Given the description of an element on the screen output the (x, y) to click on. 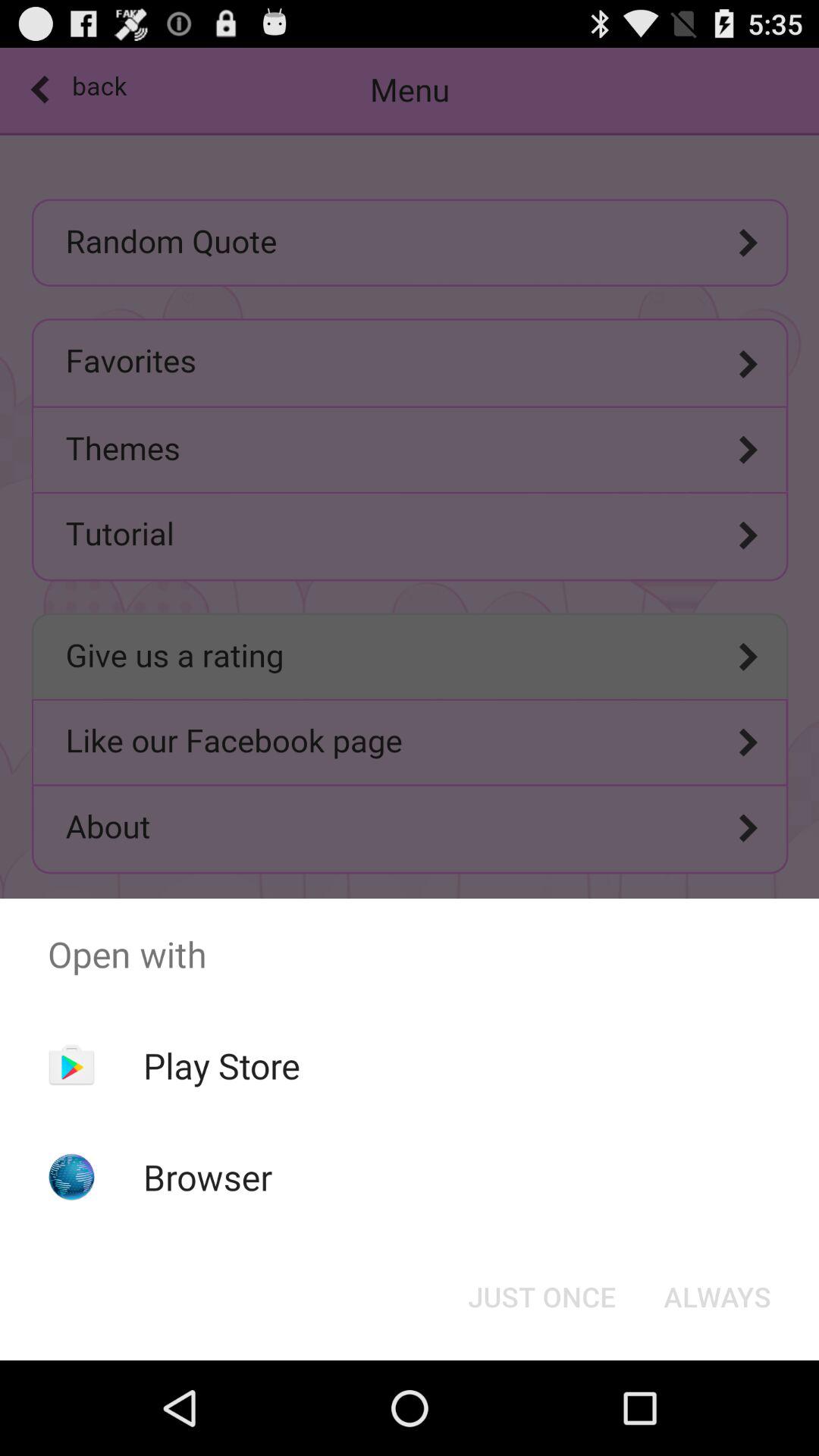
jump until play store (221, 1065)
